Given the description of an element on the screen output the (x, y) to click on. 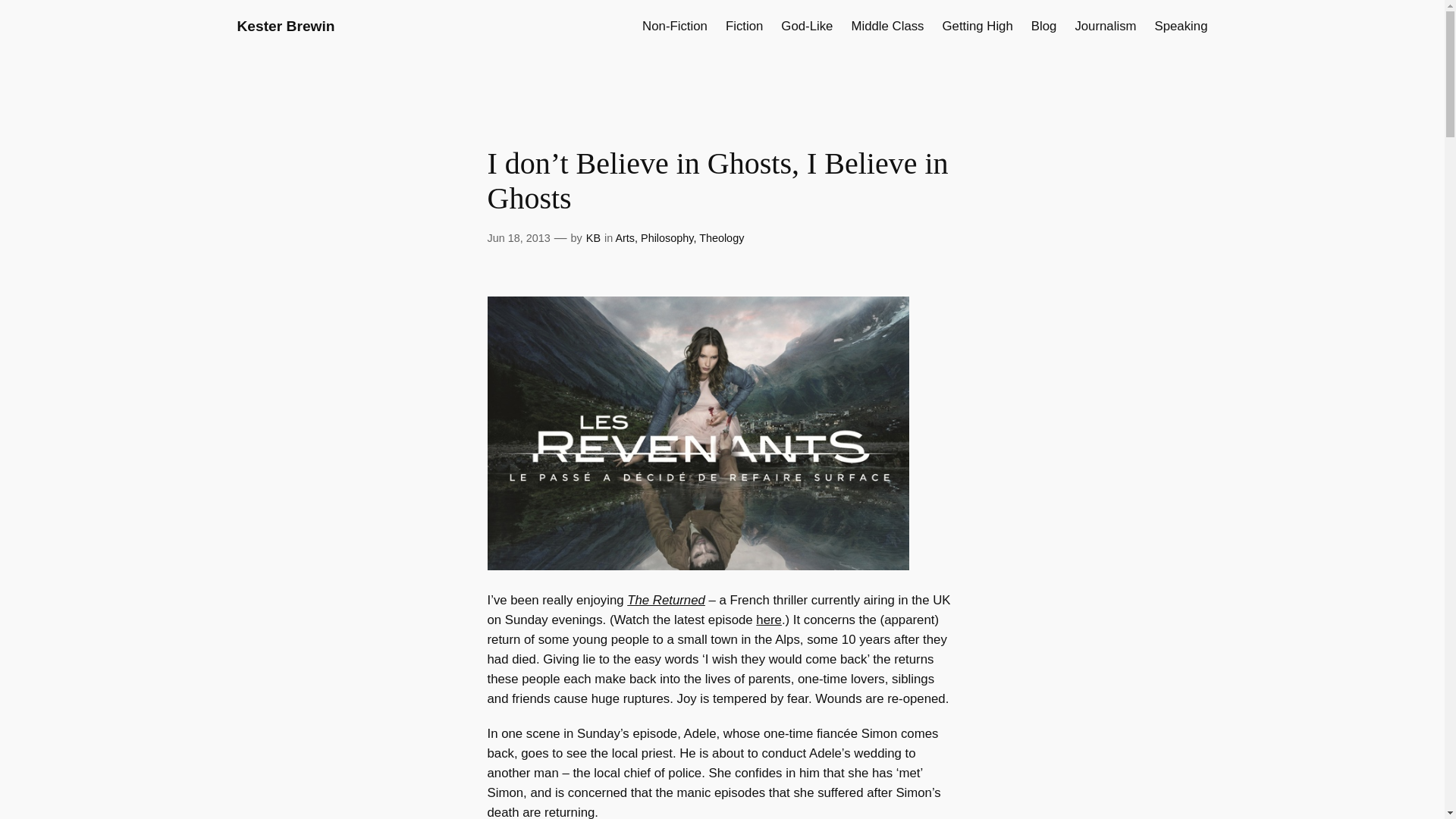
God-Like (806, 26)
Arts (624, 237)
Jun 18, 2013 (518, 237)
here (768, 619)
Theology (721, 237)
Fiction (743, 26)
Journalism (1104, 26)
Getting High (976, 26)
Non-Fiction (674, 26)
The Returned (665, 599)
